Given the description of an element on the screen output the (x, y) to click on. 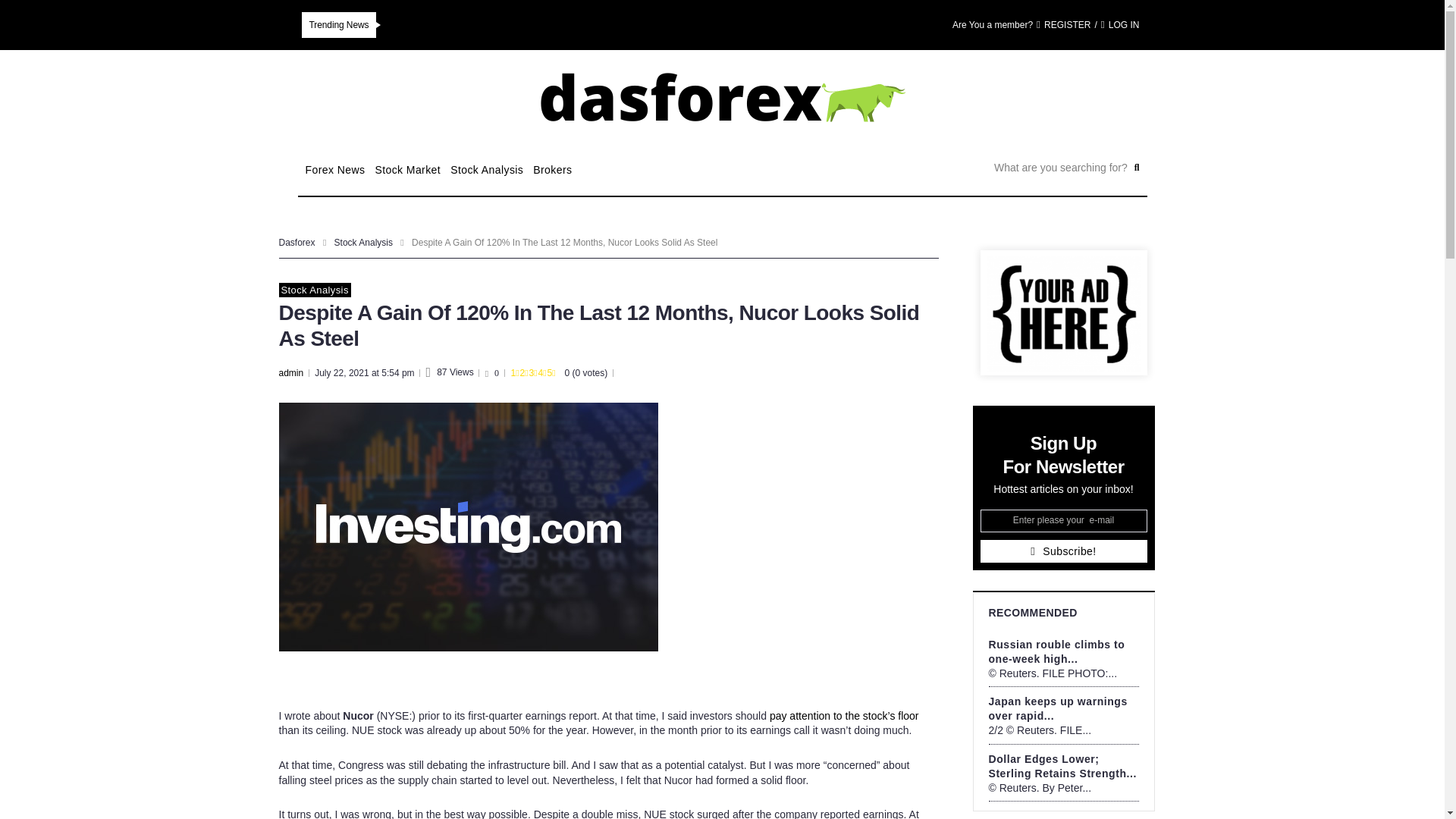
Russian rouble climbs to one-week high... (1056, 651)
Stock Analysis (363, 242)
July 22, 2021 at 5:54 pm (363, 372)
Japan keeps up warnings over rapid... (1057, 708)
Brokers (552, 170)
REGISTER (1063, 24)
Dollar Edges Lower; Sterling Retains Strength... (1062, 765)
LOG IN (1120, 24)
Dasforex (297, 242)
Forex News (334, 170)
Stock Analysis (485, 170)
Dasforex (297, 242)
Stock Analysis (314, 290)
admin (291, 372)
Stock Market (407, 170)
